Given the description of an element on the screen output the (x, y) to click on. 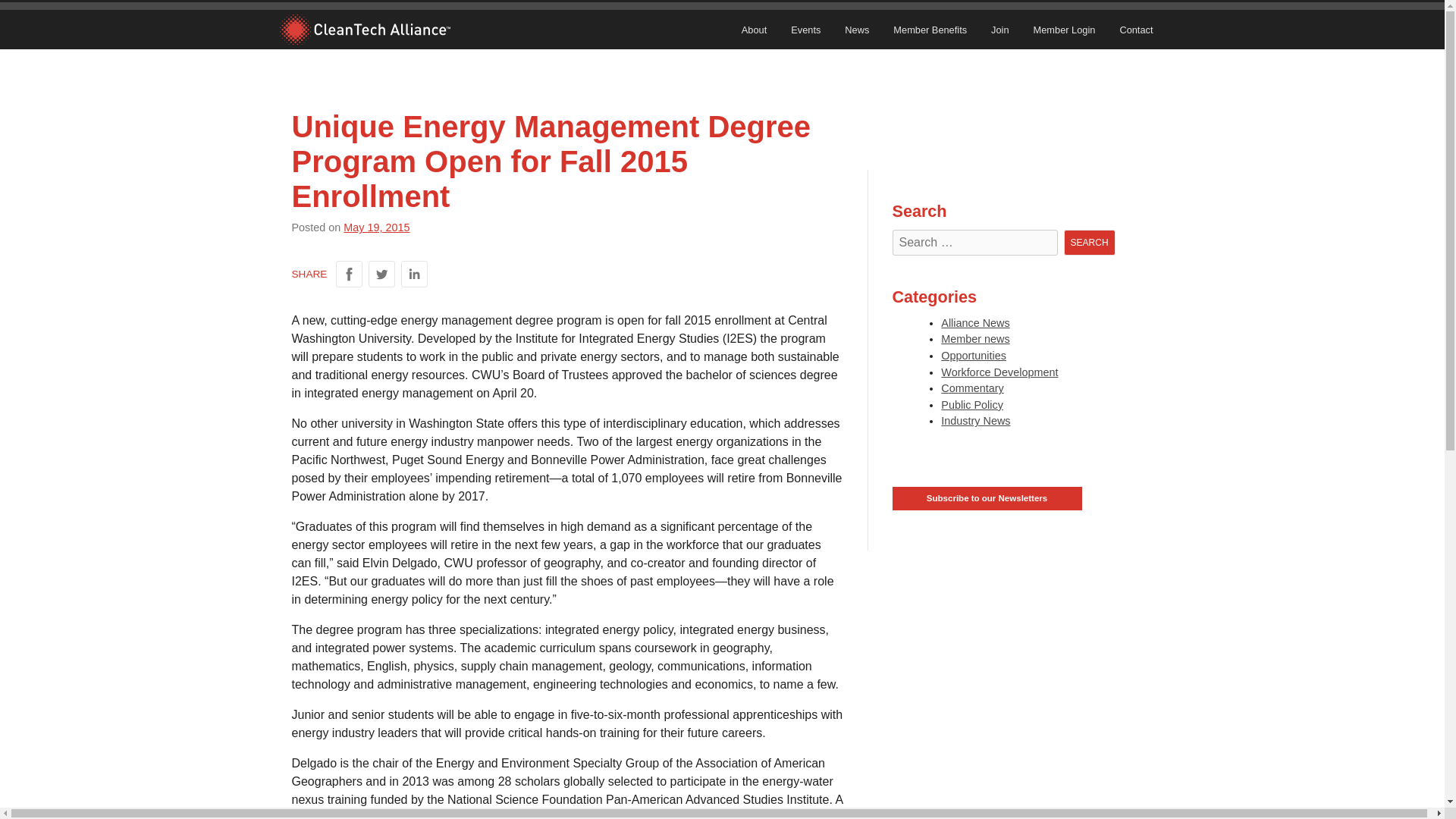
cta-logo (364, 29)
Share on LinkedIn (414, 274)
Share on Twitter (381, 274)
Events (805, 29)
About (753, 29)
Search (1089, 242)
Search (1089, 242)
Share on Facebook (349, 274)
cta-logo (364, 29)
